Given the description of an element on the screen output the (x, y) to click on. 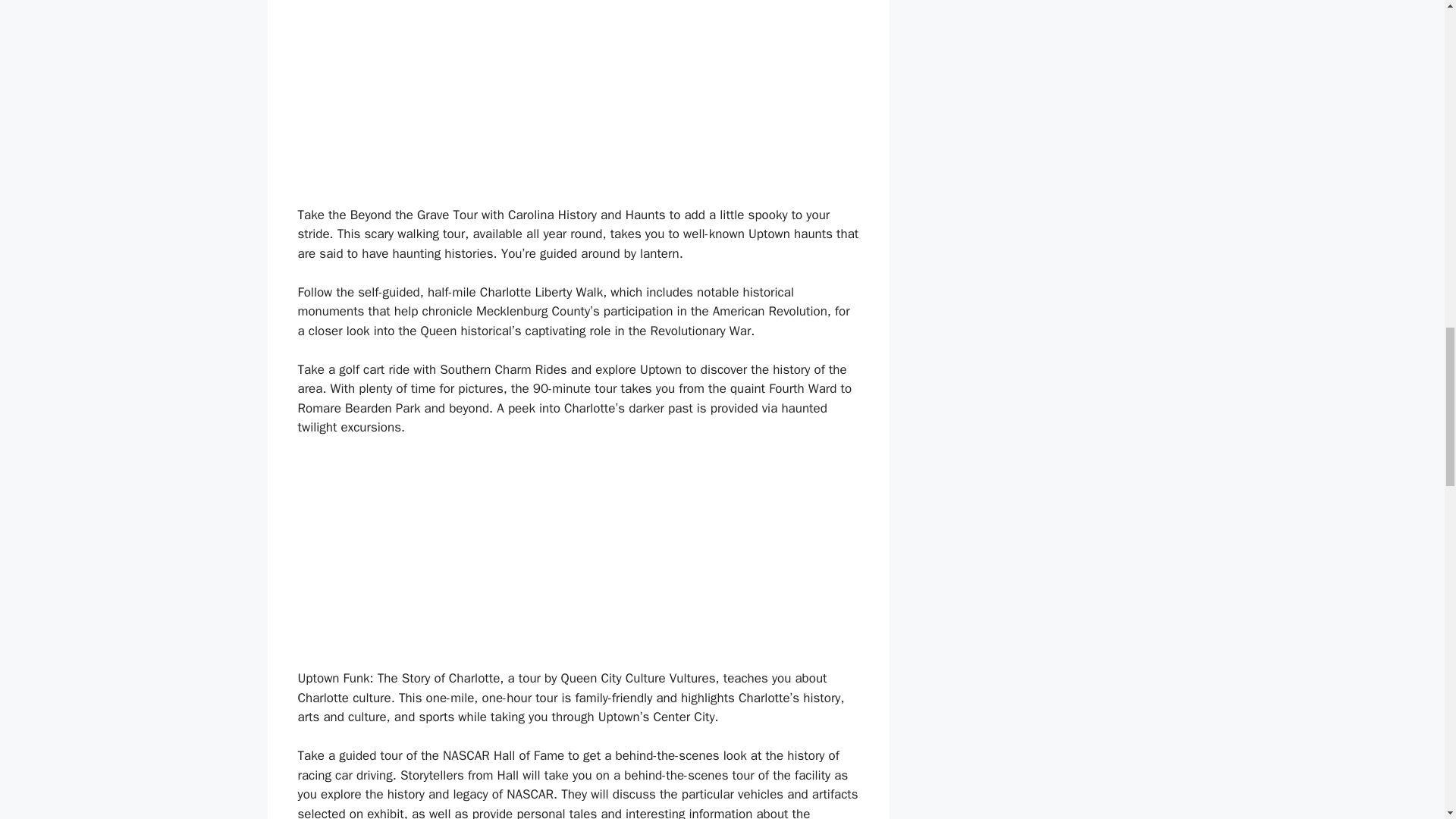
Advertisement (578, 102)
Advertisement (578, 562)
